Given the description of an element on the screen output the (x, y) to click on. 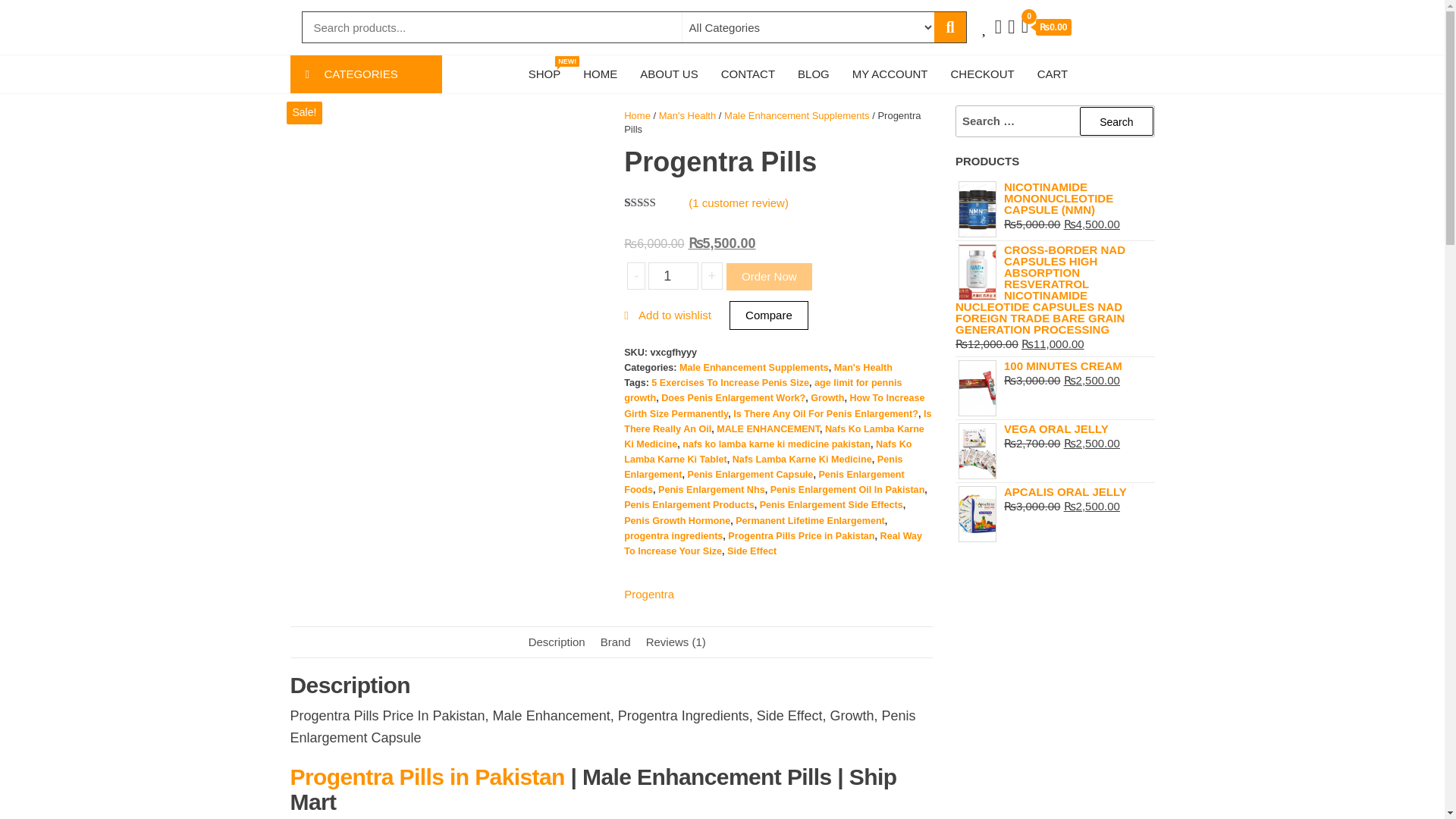
Search (1116, 121)
Cart (544, 74)
SHIP MART (1046, 28)
CATEGORIES (326, 63)
1 (365, 74)
Search (672, 275)
HOME (1116, 121)
